Given the description of an element on the screen output the (x, y) to click on. 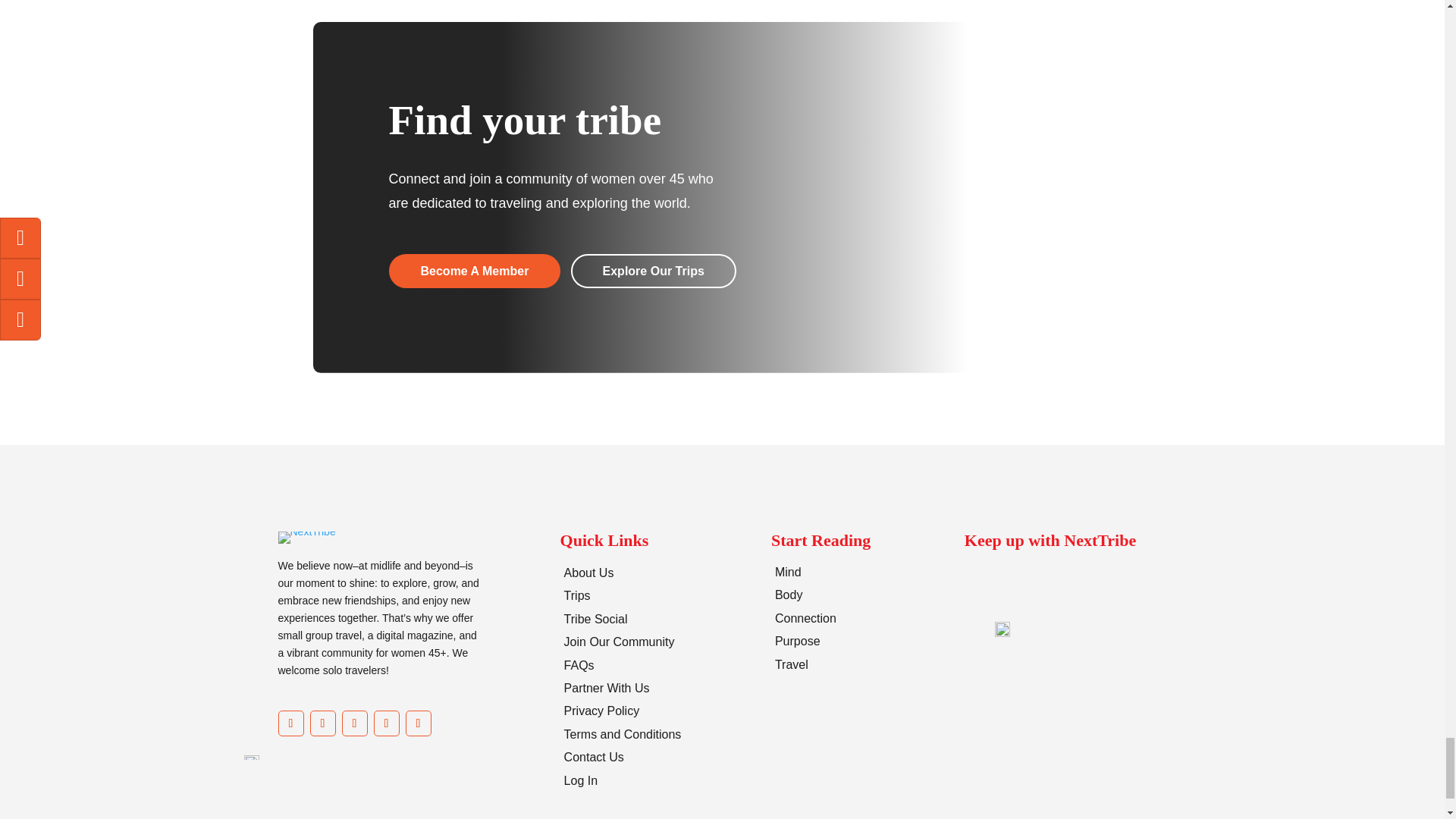
Follow on Youtube (385, 722)
Follow on Pinterest (353, 722)
Follow on Facebook (290, 722)
716e96db-8265-4a0b-be47-4aacf573-removebg-preview (306, 537)
Follow on Instagram (321, 722)
